Given the description of an element on the screen output the (x, y) to click on. 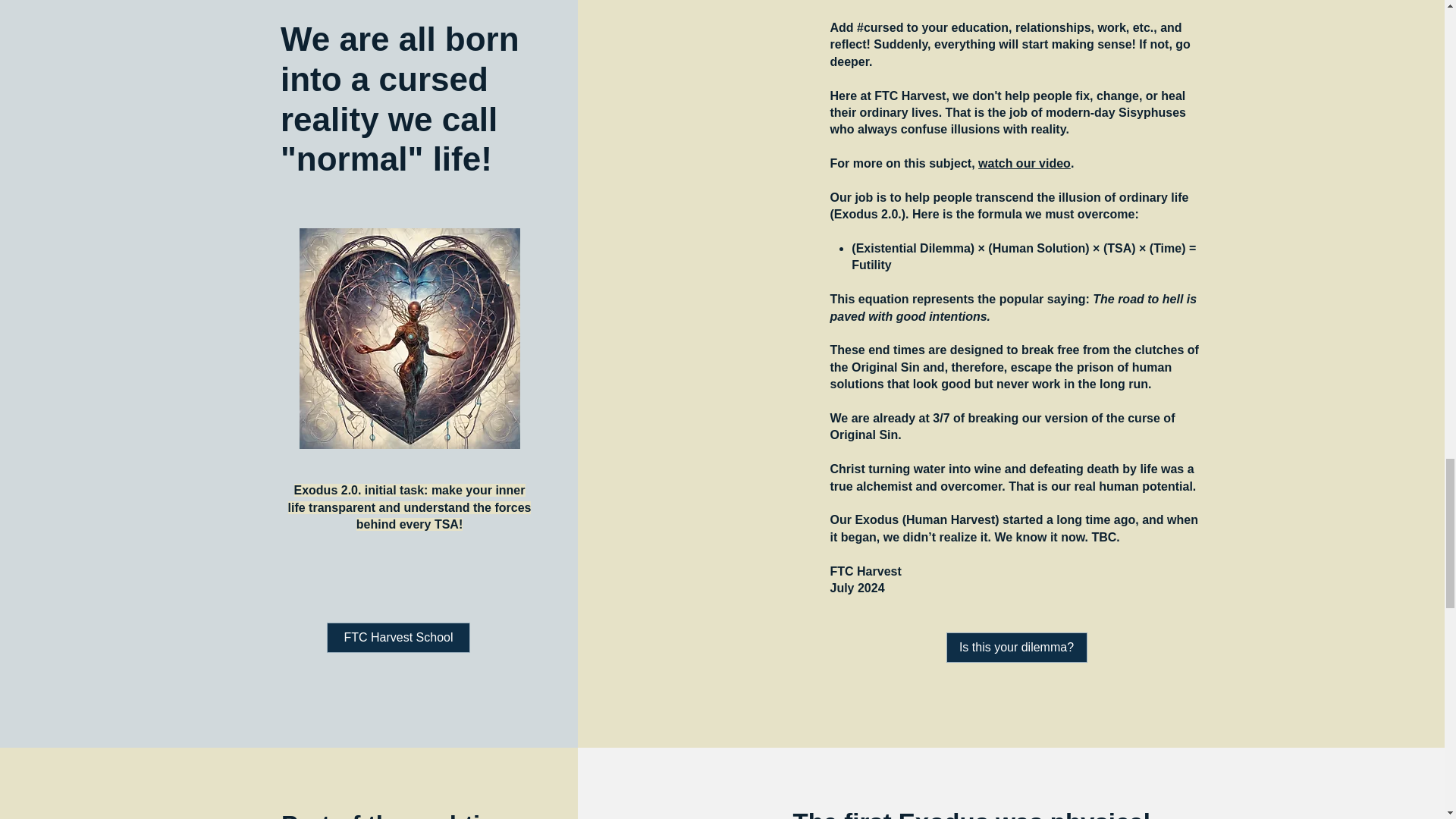
Is this your dilemma? (1016, 647)
watch our video (1024, 163)
FTC Harvest School (398, 637)
